Given the description of an element on the screen output the (x, y) to click on. 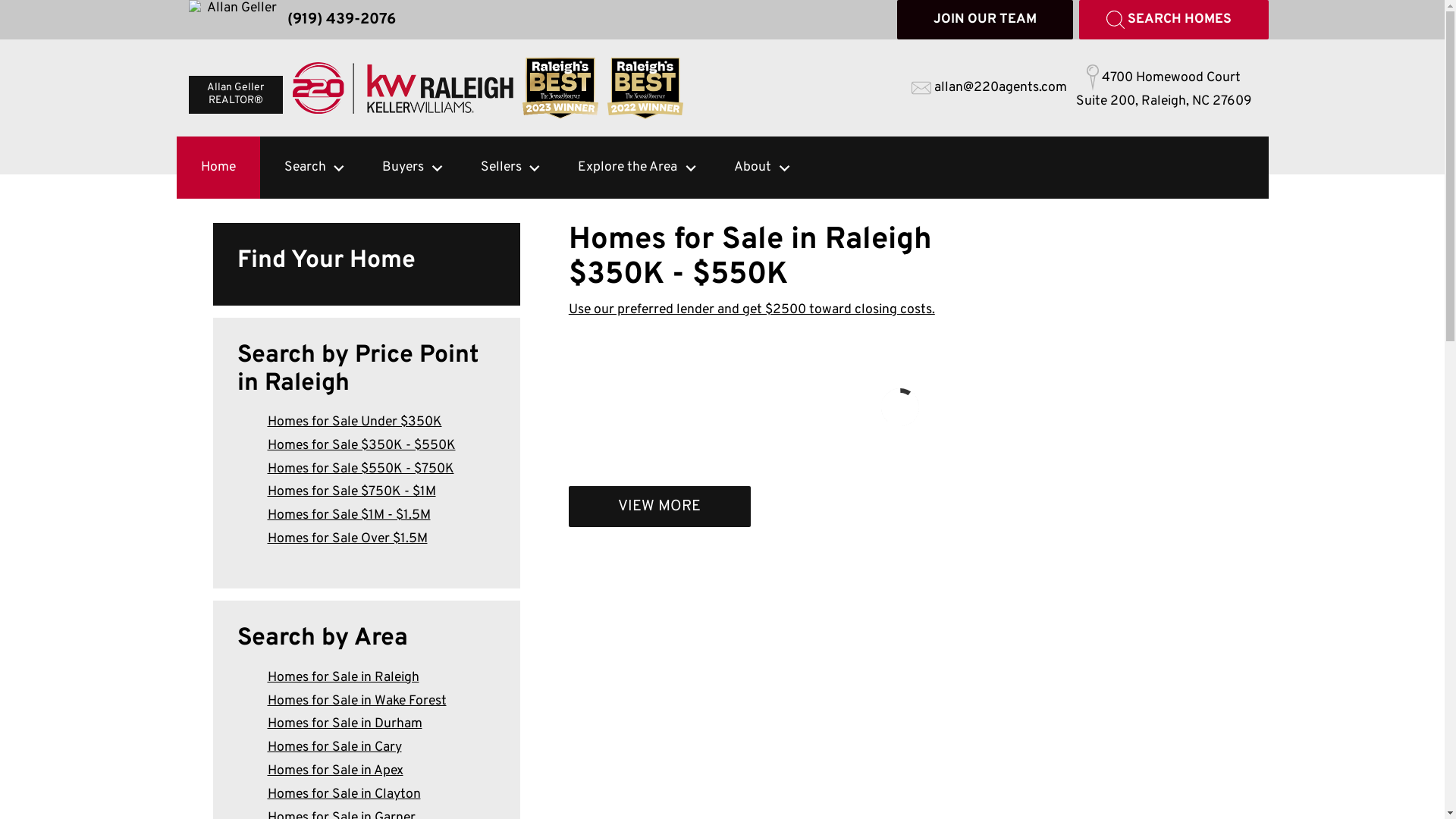
About Element type: text (741, 167)
allan@220agents.com Element type: text (988, 87)
Homes for Sale Over $1.5M Element type: text (346, 538)
Search Element type: text (293, 167)
Homes for Sale $1M - $1.5M Element type: text (347, 515)
Explore the Area Element type: text (616, 167)
Homes for Sale Under $350K Element type: text (353, 421)
Homes for Sale $750K - $1M Element type: text (350, 491)
Homes for Sale in Wake Forest Element type: text (355, 700)
(919) 439-2076 Element type: text (340, 19)
Homes for Sale in Durham Element type: text (343, 723)
Homes for Sale $350K - $550K Element type: text (360, 445)
Homes for Sale in Clayton Element type: text (343, 794)
Sellers Element type: text (490, 167)
VIEW MORE Element type: text (659, 506)
Homes for Sale $550K - $750K Element type: text (359, 468)
JOIN OUR TEAM Element type: text (984, 19)
4700 Homewood Court
Suite 200, Raleigh, NC 27609 Element type: text (1163, 88)
Homes for Sale in Apex Element type: text (334, 770)
Homes for Sale in Raleigh Element type: text (342, 677)
SEARCH HOMES Element type: text (1172, 19)
Use our preferred lender and get $2500 toward closing costs. Element type: text (751, 309)
Buyers Element type: text (391, 167)
Homes for Sale in Cary Element type: text (333, 747)
Home Element type: text (217, 167)
